Given the description of an element on the screen output the (x, y) to click on. 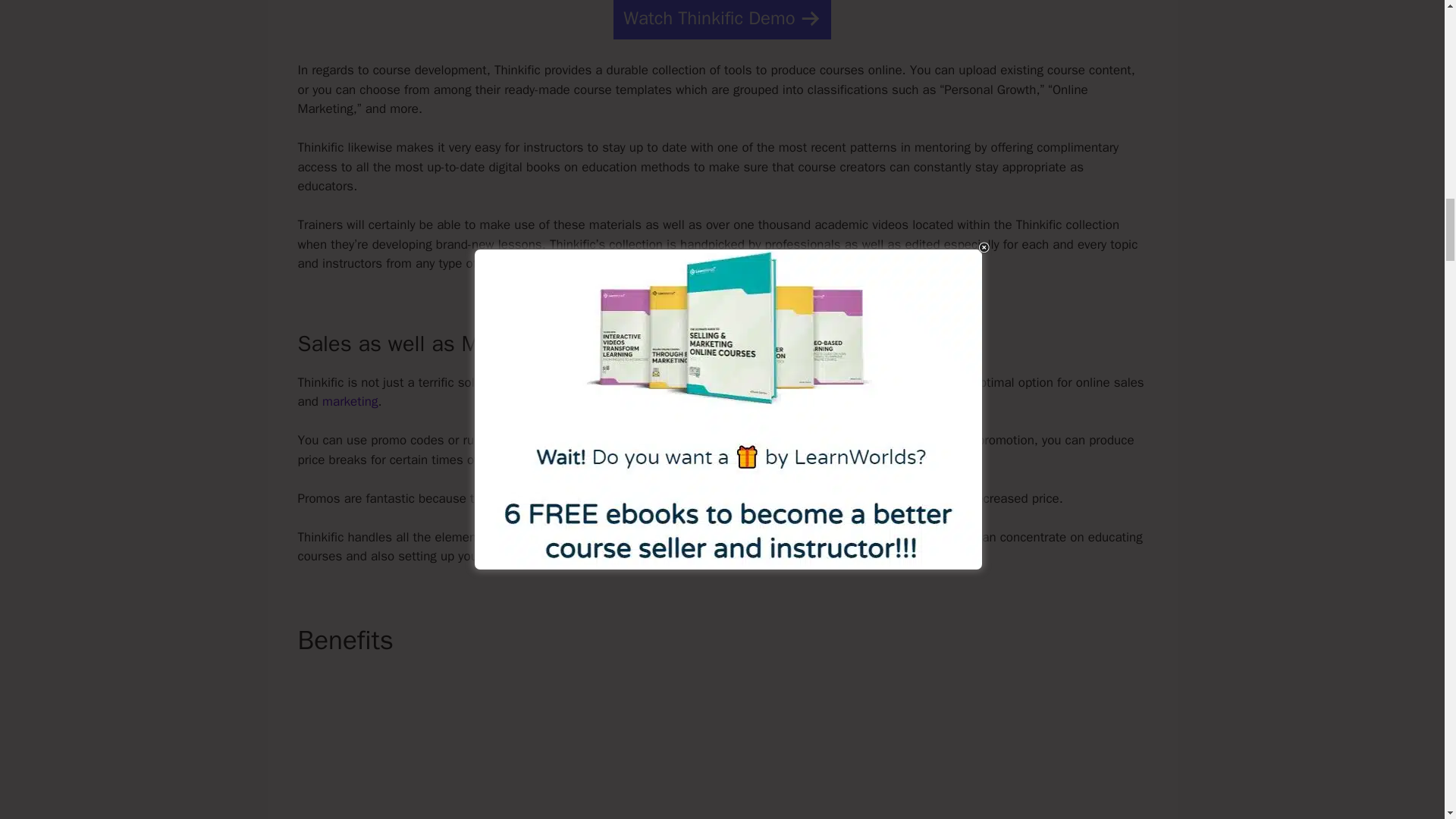
marketing (349, 401)
Watch Thinkific Demo (720, 19)
